Given the description of an element on the screen output the (x, y) to click on. 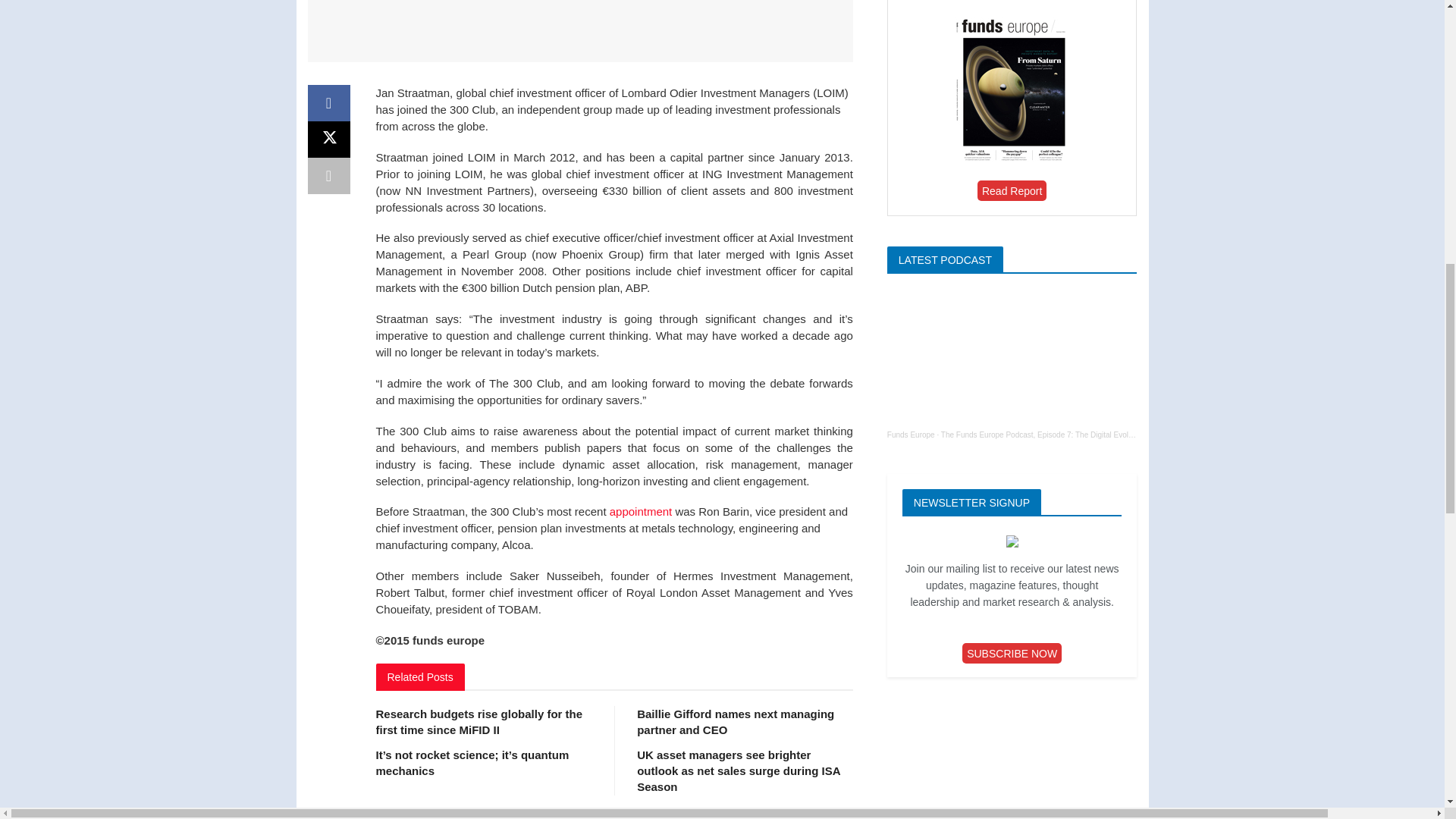
Previous (600, 814)
Funds Europe (910, 434)
Next (627, 814)
